Given the description of an element on the screen output the (x, y) to click on. 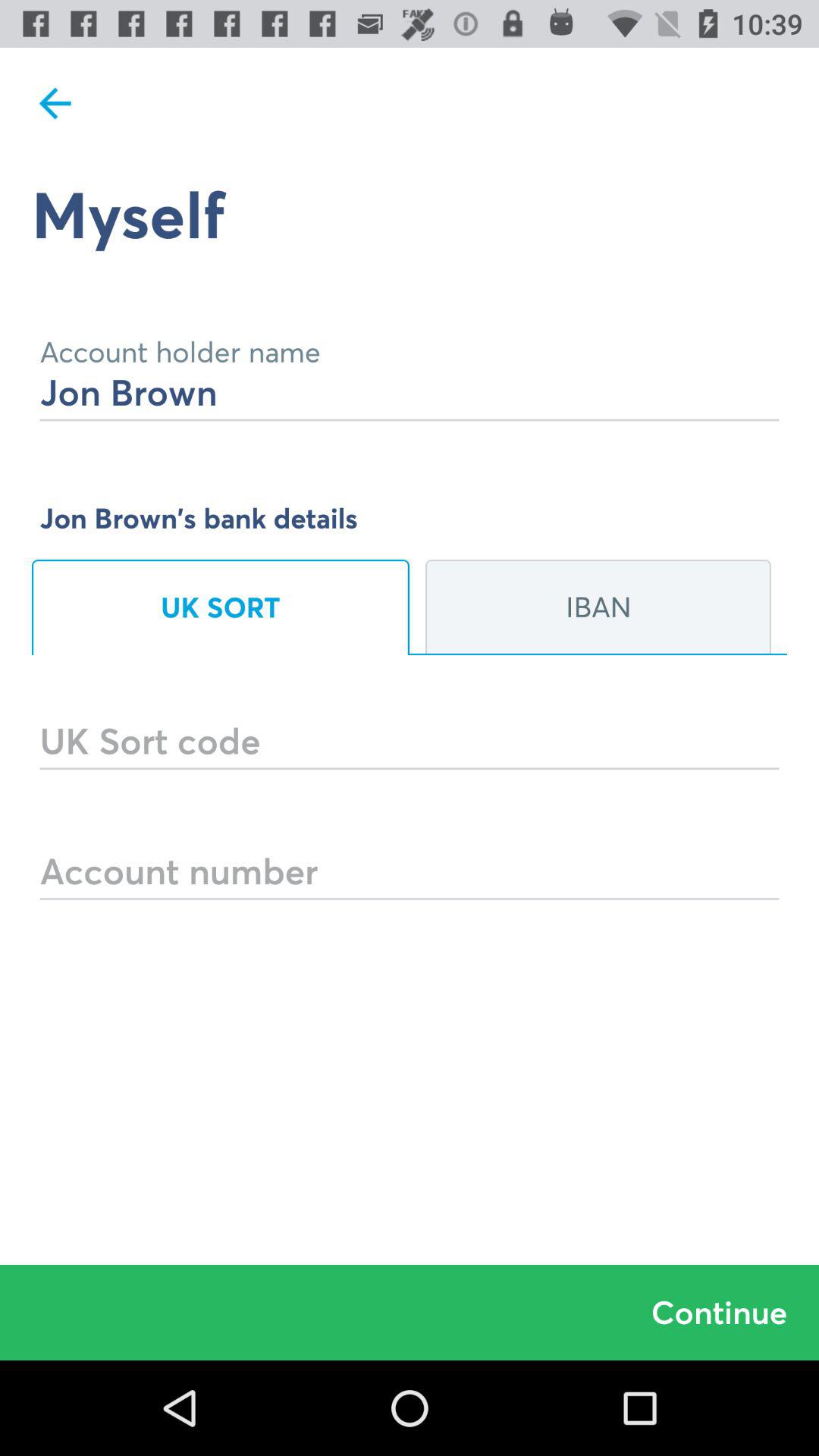
press uk sort (220, 607)
